Given the description of an element on the screen output the (x, y) to click on. 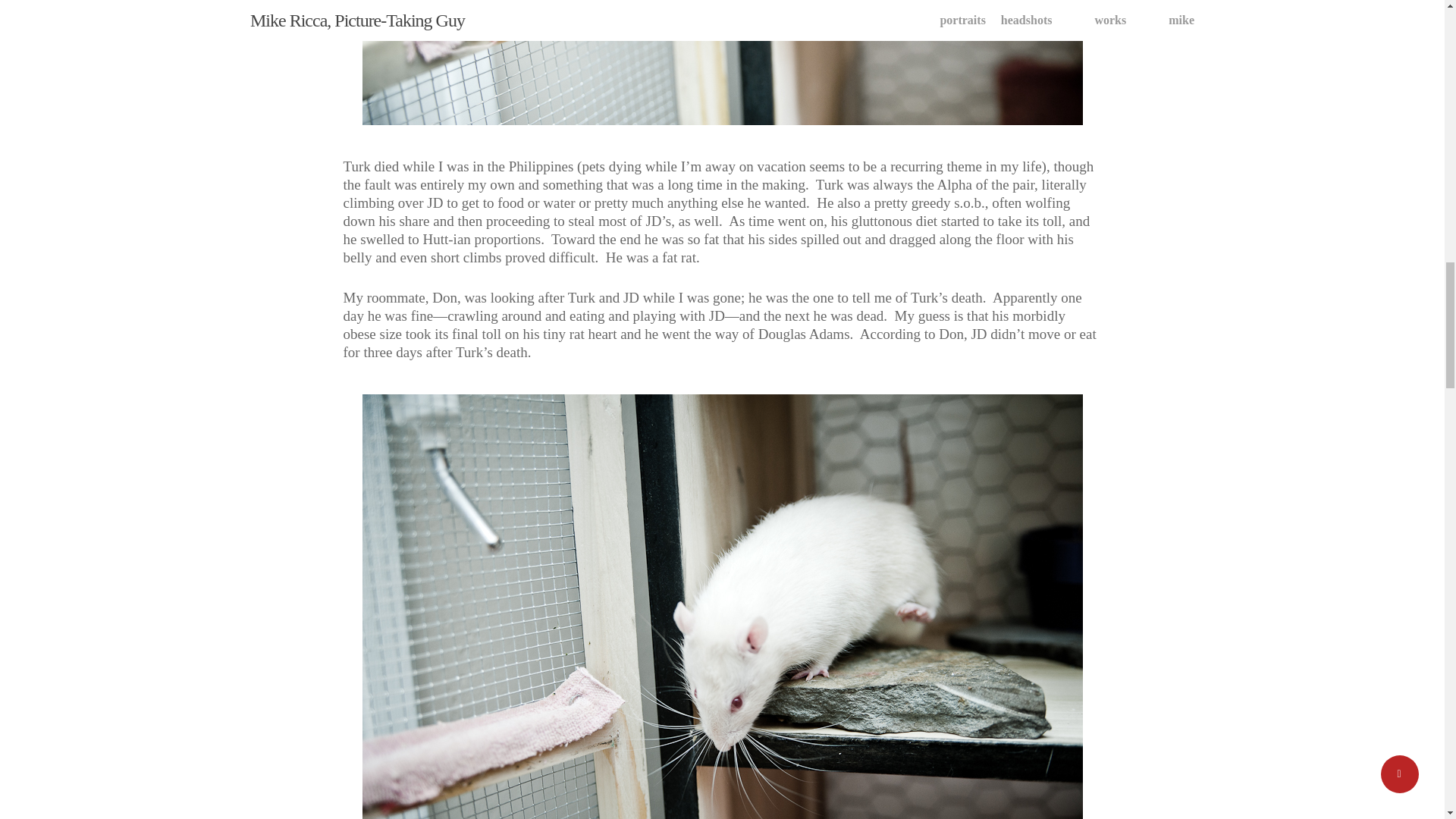
2010.06.22 - turk (722, 62)
